Given the description of an element on the screen output the (x, y) to click on. 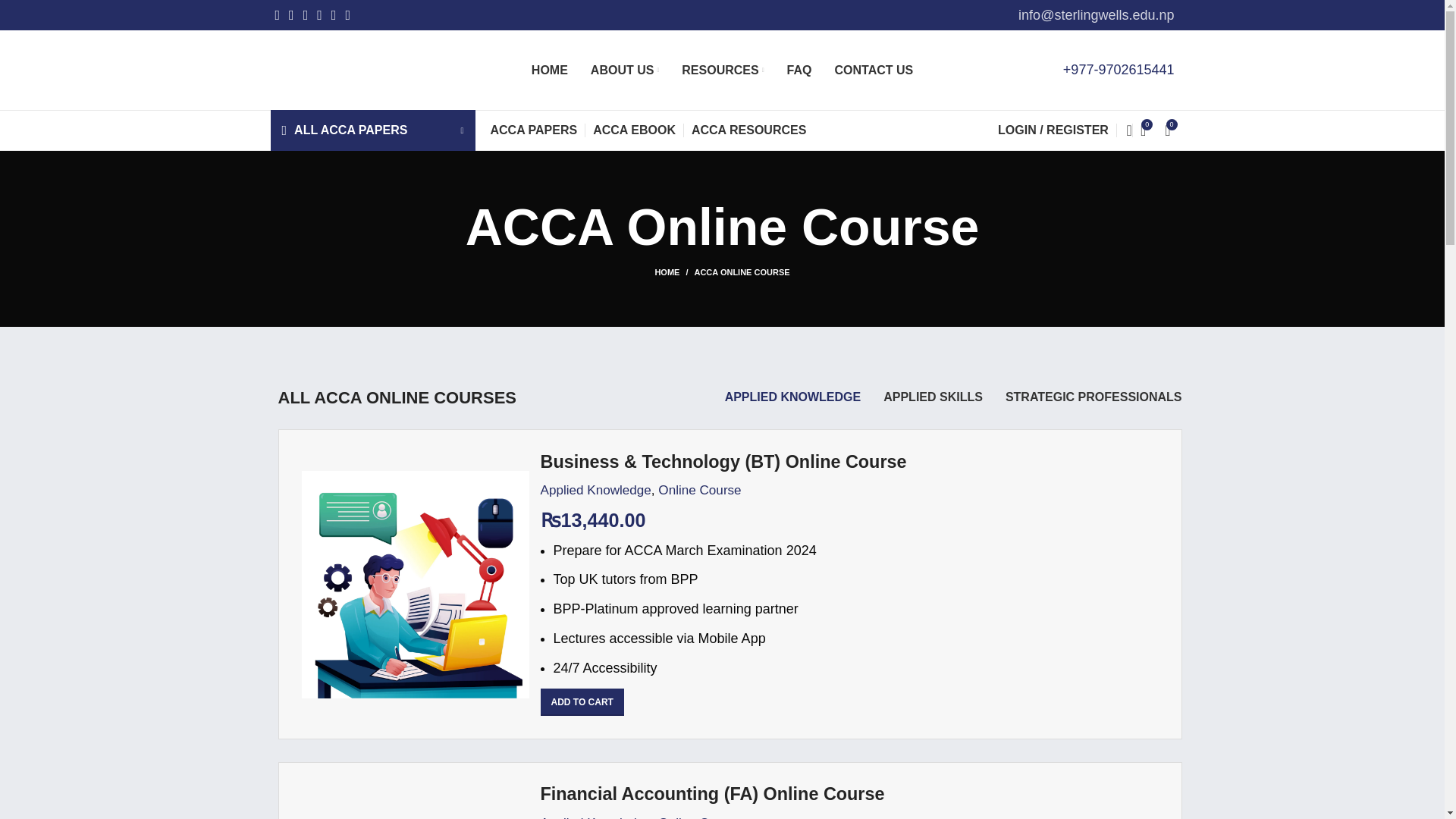
CONTACT US (873, 69)
RESOURCES (721, 69)
My account (1053, 130)
HOME (549, 69)
ABOUT US (625, 69)
